Given the description of an element on the screen output the (x, y) to click on. 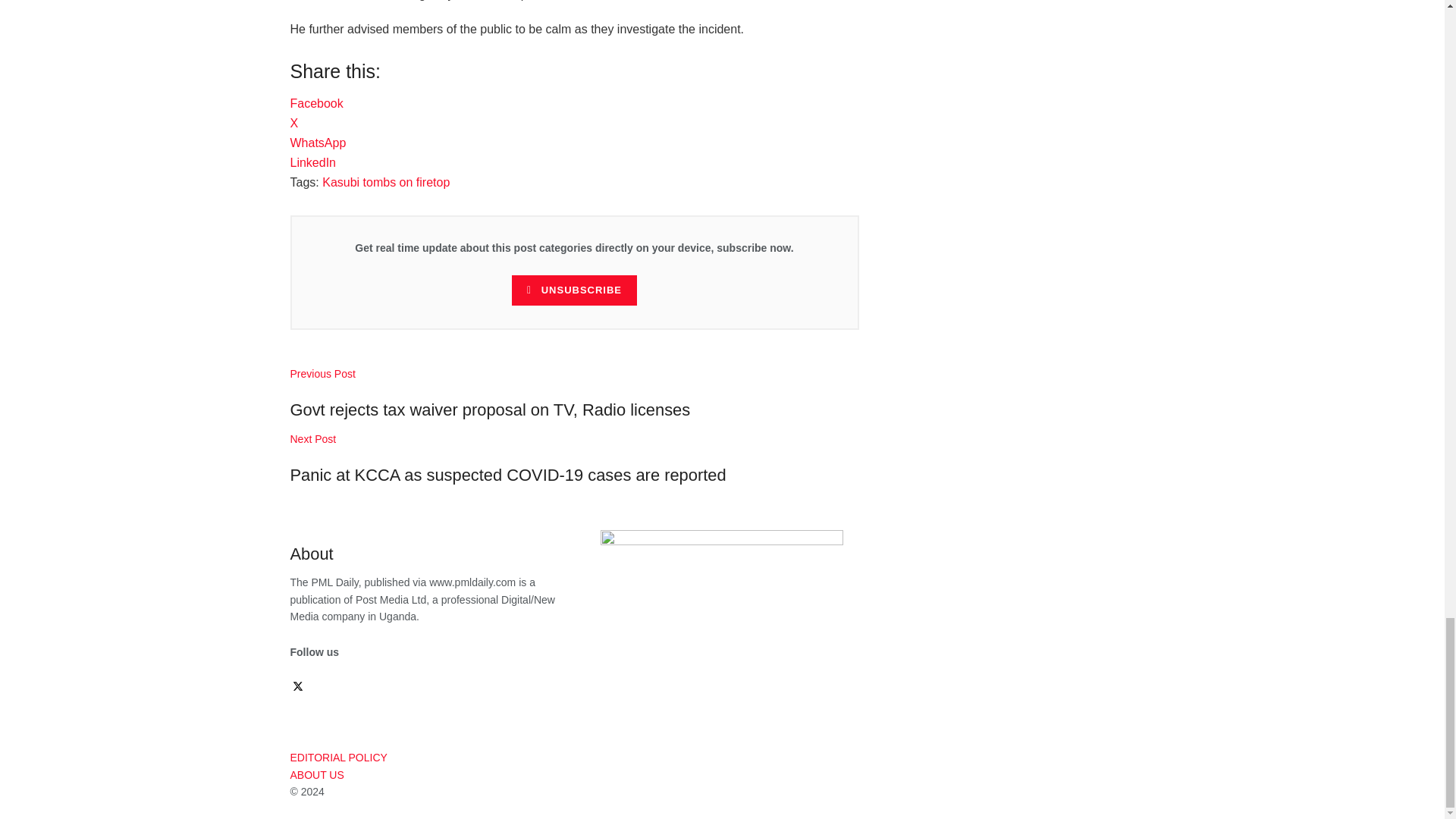
Click to share on Facebook (315, 103)
Click to share on LinkedIn (312, 162)
Click to share on WhatsApp (317, 142)
